Given the description of an element on the screen output the (x, y) to click on. 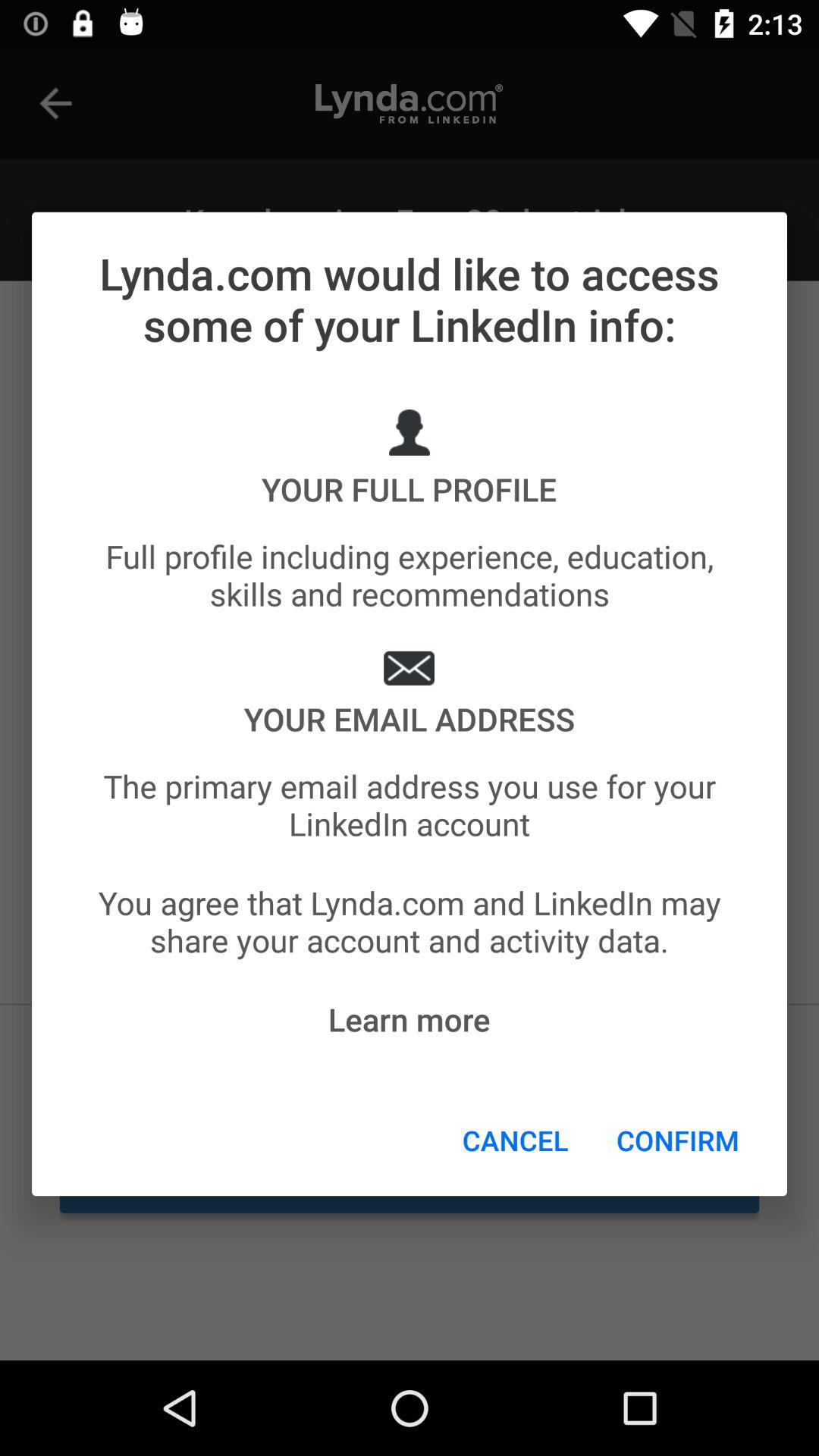
select the item to the right of cancel icon (677, 1140)
